Given the description of an element on the screen output the (x, y) to click on. 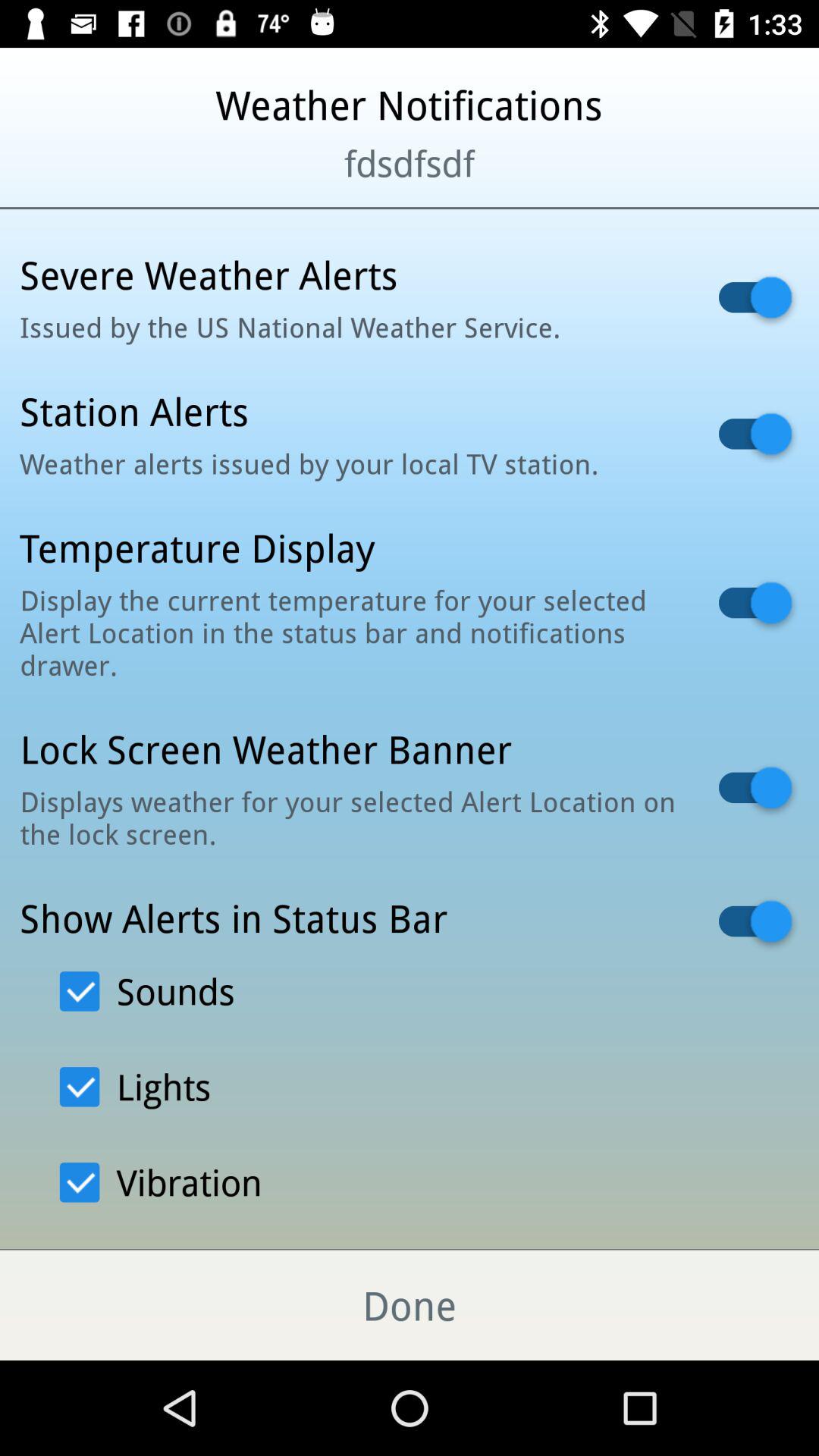
select the item below temperature display icon (349, 632)
